Given the description of an element on the screen output the (x, y) to click on. 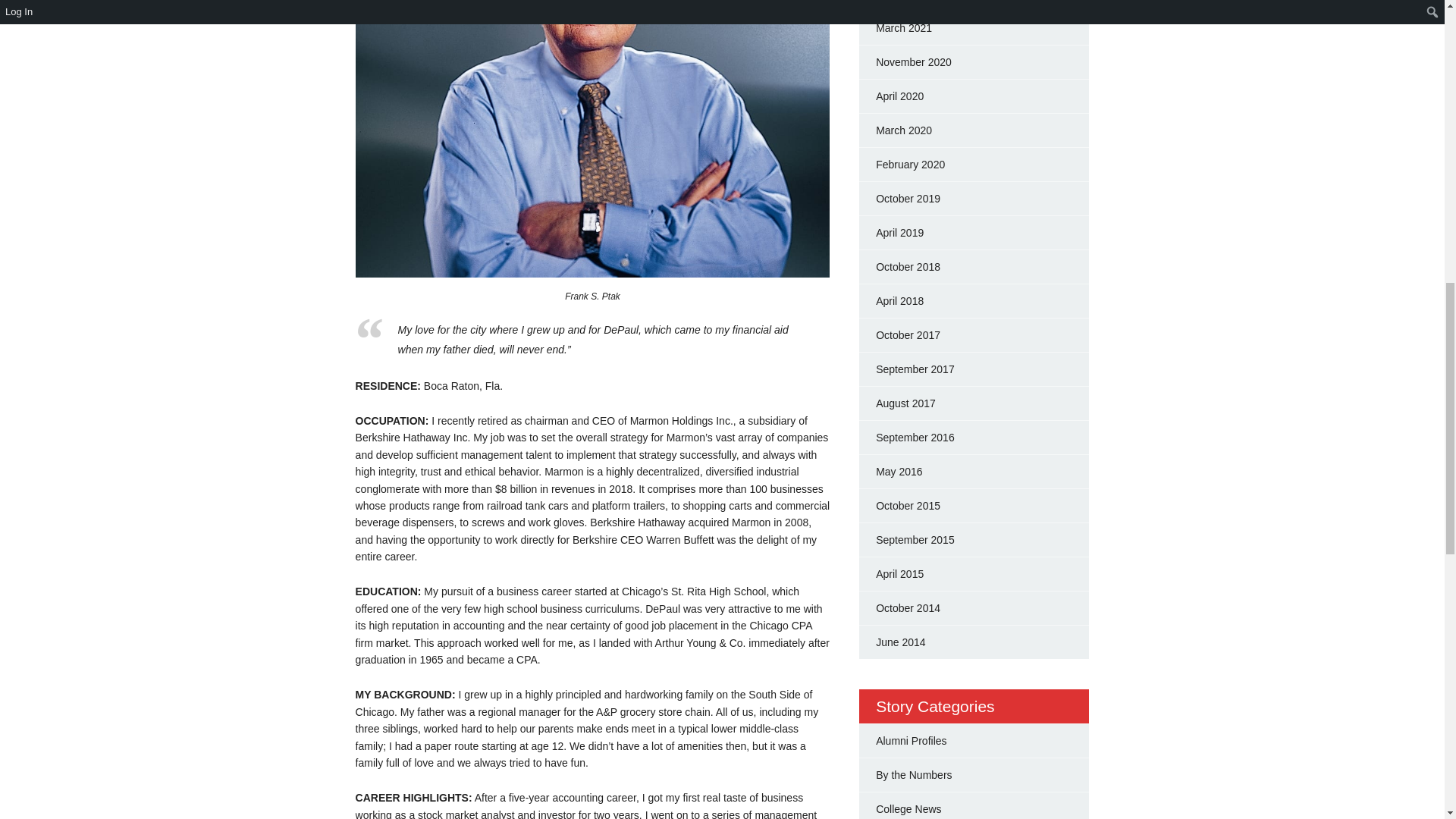
March 2021 (903, 28)
April 2019 (899, 232)
November 2020 (914, 61)
October 2017 (908, 335)
March 2020 (903, 130)
October 2019 (908, 198)
September 2017 (915, 369)
April 2020 (899, 96)
October 2018 (908, 266)
February 2020 (910, 164)
